Given the description of an element on the screen output the (x, y) to click on. 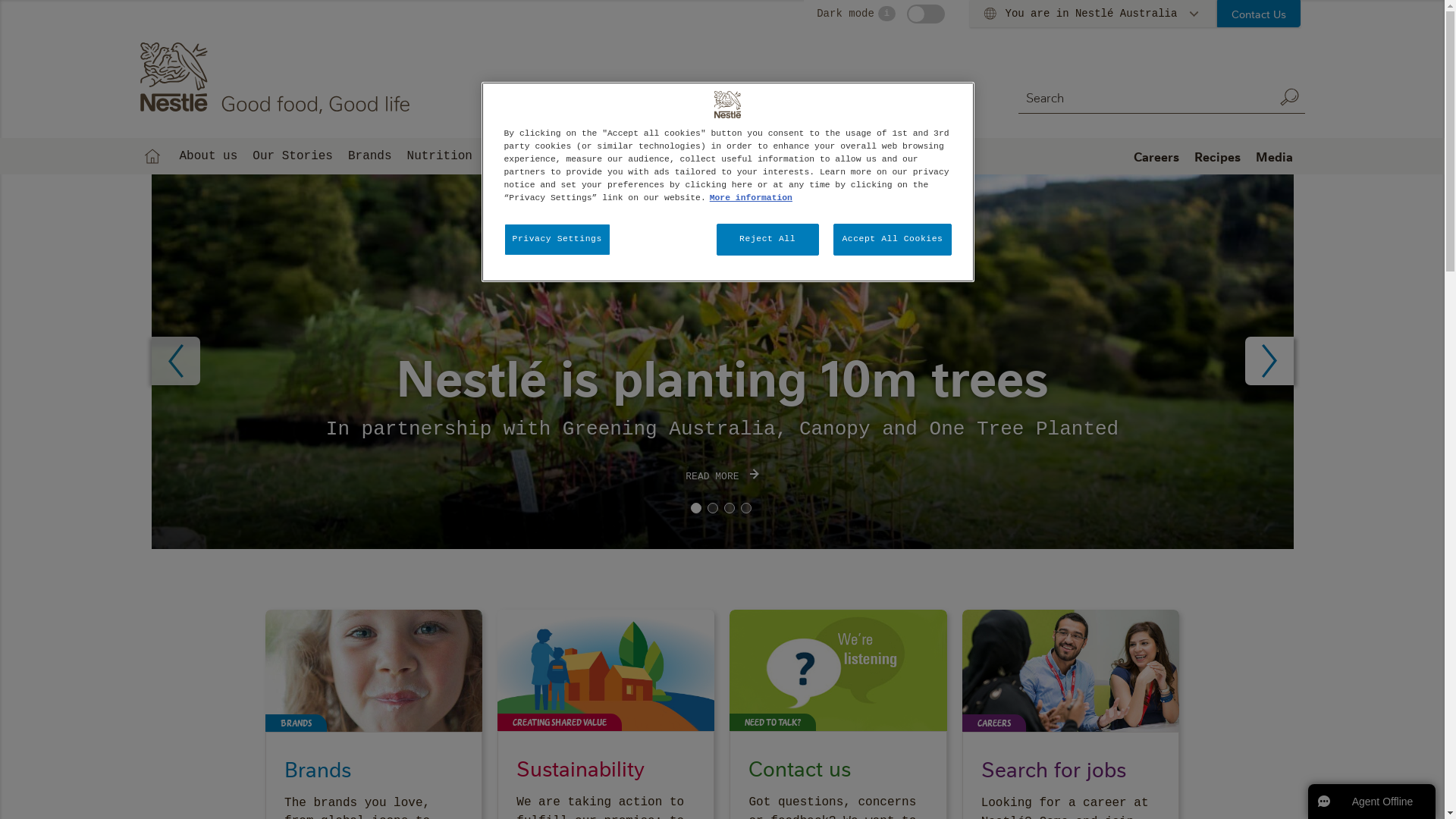
i Element type: text (886, 13)
Next Element type: text (1269, 360)
4 Element type: text (745, 507)
Brands Element type: text (369, 156)
1 Element type: text (695, 507)
Company Logo Element type: hover (727, 104)
Careers Element type: text (1155, 156)
More information Element type: text (750, 197)
Home Element type: hover (276, 77)
Our Stories Element type: text (292, 156)
Privacy Settings Element type: text (556, 239)
Reject All Element type: text (767, 239)
planting_10_million_trees_plan Element type: hover (722, 361)
Accept All Cookies Element type: text (891, 239)
Media Element type: text (1274, 156)
Contact Us Element type: text (1258, 13)
Home Element type: text (151, 155)
Skip to main content Element type: text (0, 0)
Sustainability Element type: text (538, 156)
Previous Element type: text (175, 360)
3 Element type: text (728, 507)
Nutrition Element type: text (439, 156)
Search Element type: text (1289, 96)
About us Element type: text (207, 156)
2 Element type: text (711, 507)
Recipes Element type: text (1216, 156)
